Given the description of an element on the screen output the (x, y) to click on. 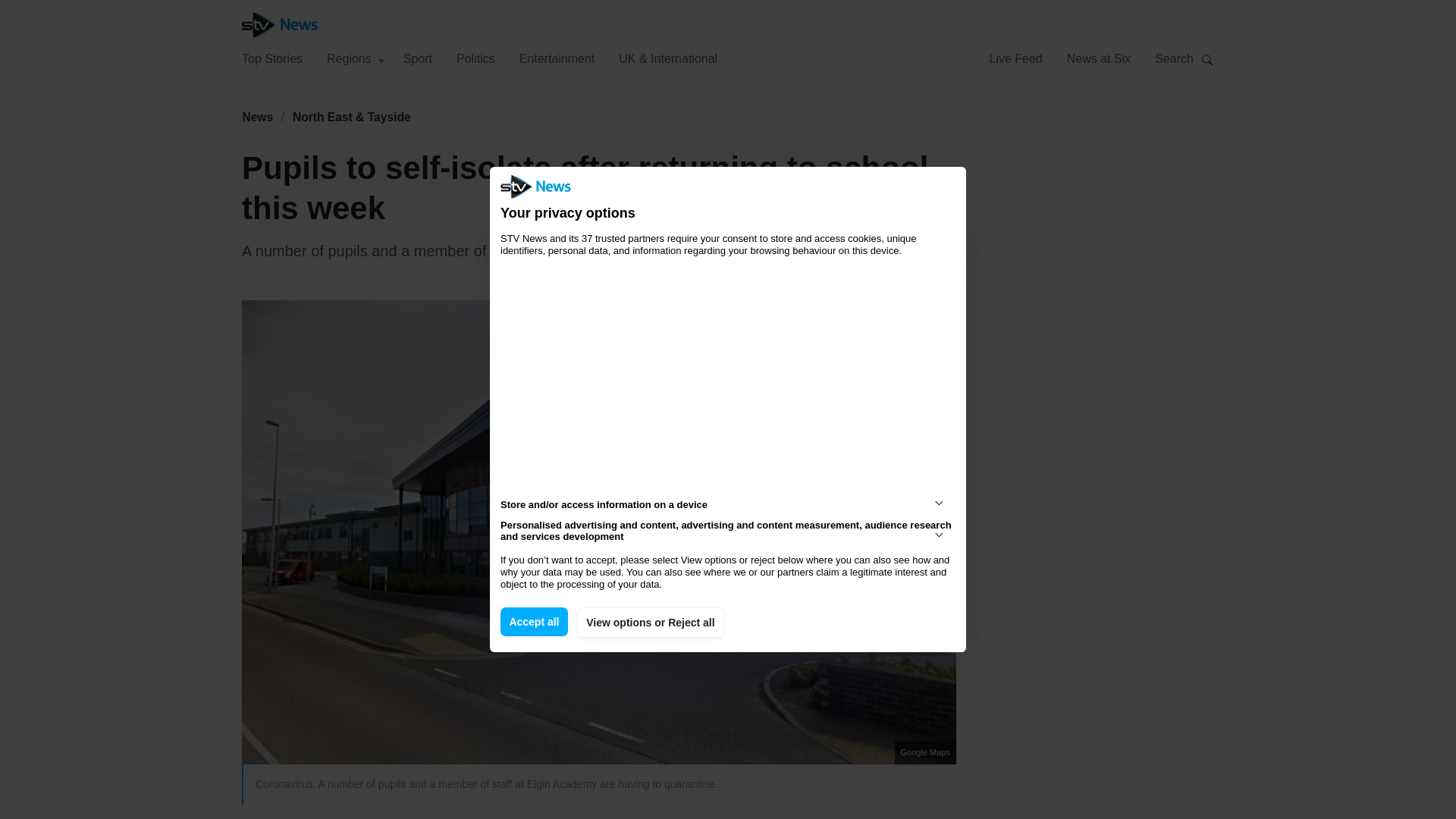
Politics (476, 57)
Top Stories (271, 57)
News (257, 116)
News at Six (1099, 57)
Entertainment (557, 57)
Live Feed (1015, 57)
Search (1206, 59)
Regions (355, 57)
